Given the description of an element on the screen output the (x, y) to click on. 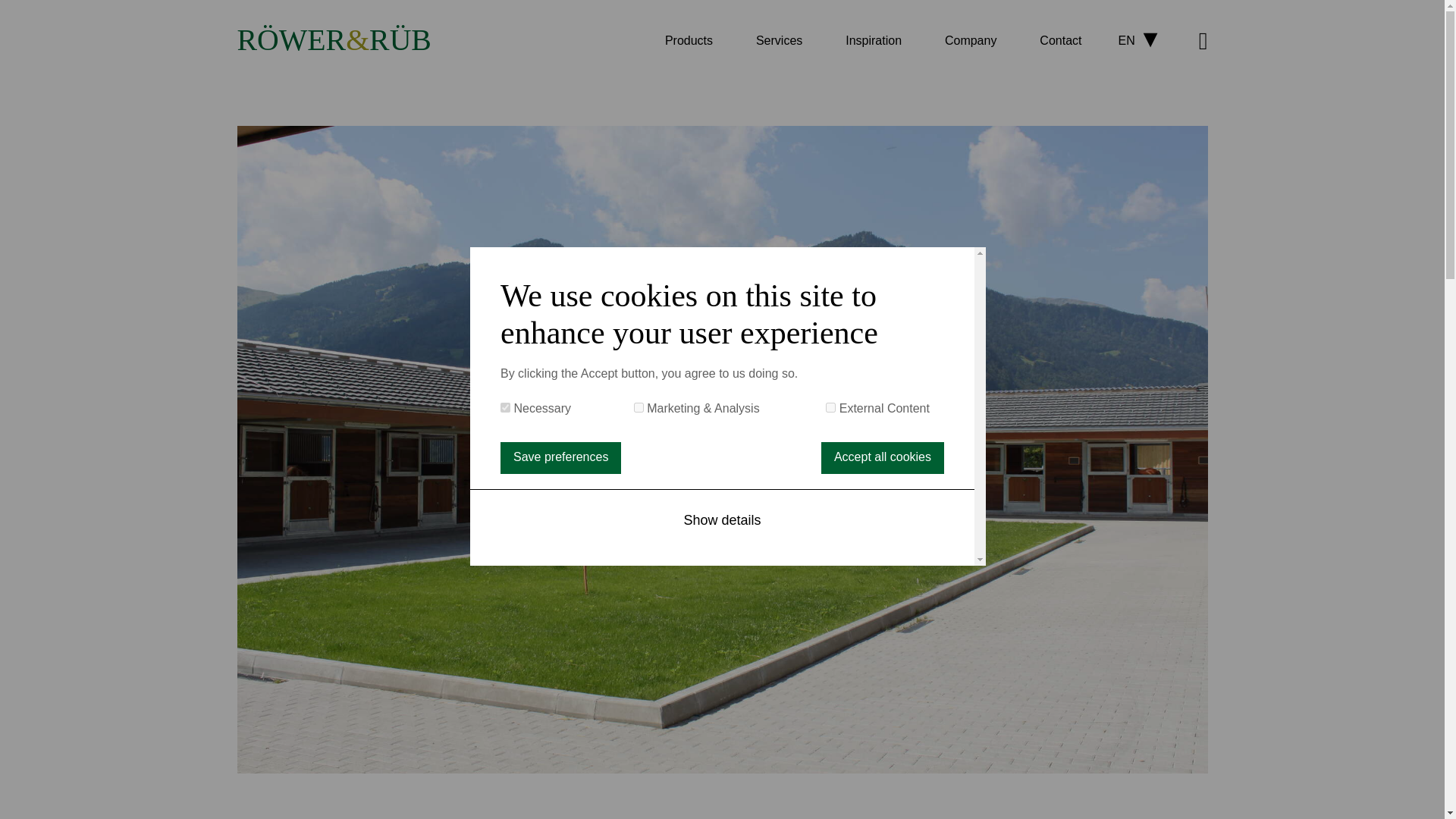
analytics (638, 407)
Show details (721, 520)
Save preferences (560, 458)
funktional (505, 407)
Accept all cookies (882, 458)
